Given the description of an element on the screen output the (x, y) to click on. 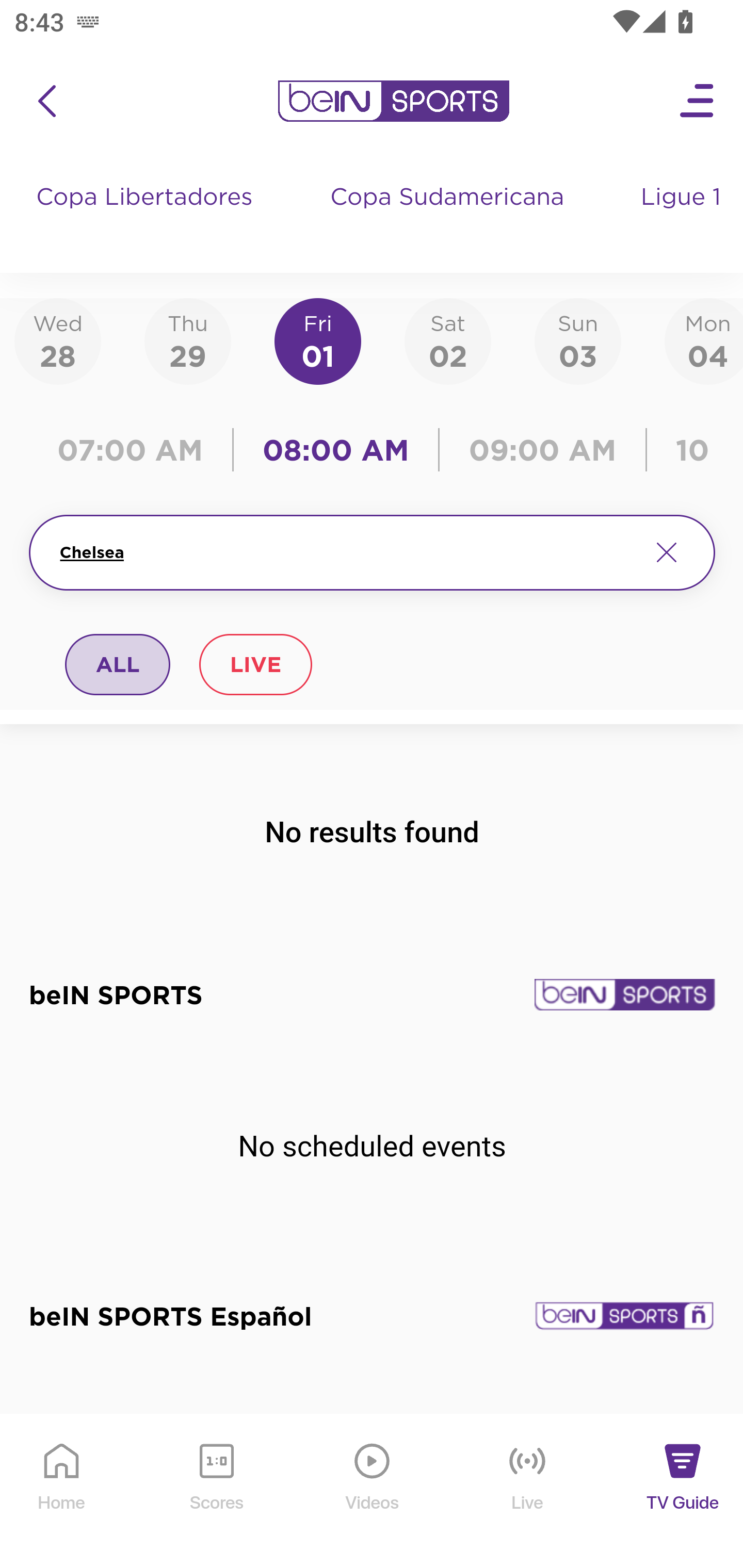
en-us?platform=mobile_android bein logo (392, 101)
icon back (46, 101)
Open Menu Icon (697, 101)
Copa Libertadores (146, 216)
Copa Sudamericana (448, 216)
Ligue 1 (682, 216)
Wed28 (58, 340)
Thu29 (187, 340)
Fri01 (318, 340)
Sat02 (447, 340)
Sun03 (578, 340)
Mon04 (703, 340)
07:00 AM (135, 449)
08:00 AM (336, 449)
09:00 AM (542, 449)
Chelsea (346, 552)
ALL (118, 663)
LIVE (255, 663)
Home Home Icon Home (61, 1491)
Scores Scores Icon Scores (216, 1491)
Videos Videos Icon Videos (372, 1491)
TV Guide TV Guide Icon TV Guide (682, 1491)
